Given the description of an element on the screen output the (x, y) to click on. 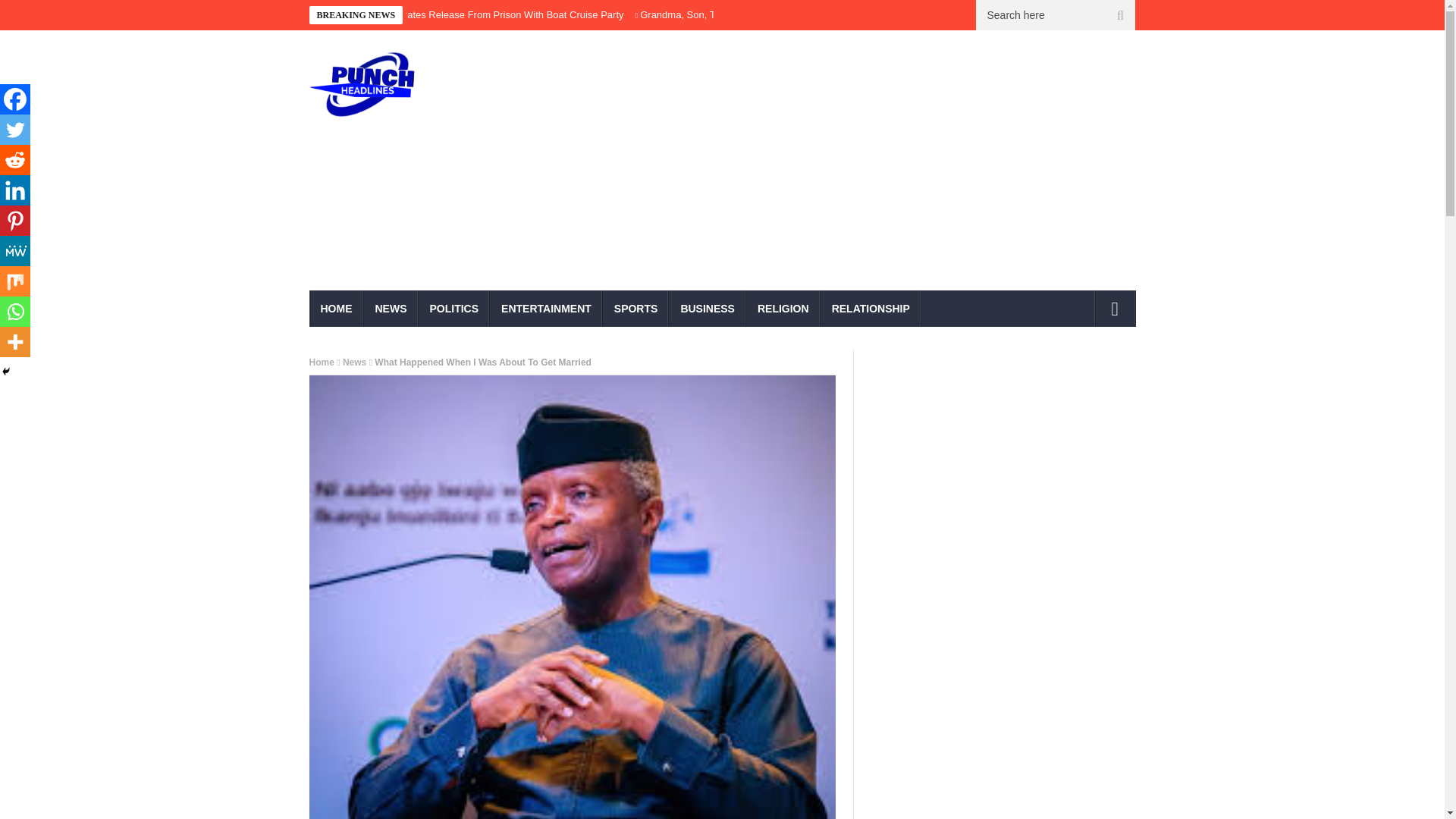
BUSINESS (706, 308)
Grandma, Son, Two Others Die After Eating Amala (750, 14)
SPORTS (635, 308)
HOME (336, 308)
ENTERTAINMENT (545, 308)
POLITICS (454, 308)
RELATIONSHIP (871, 308)
Home (321, 362)
RELIGION (783, 308)
